Given the description of an element on the screen output the (x, y) to click on. 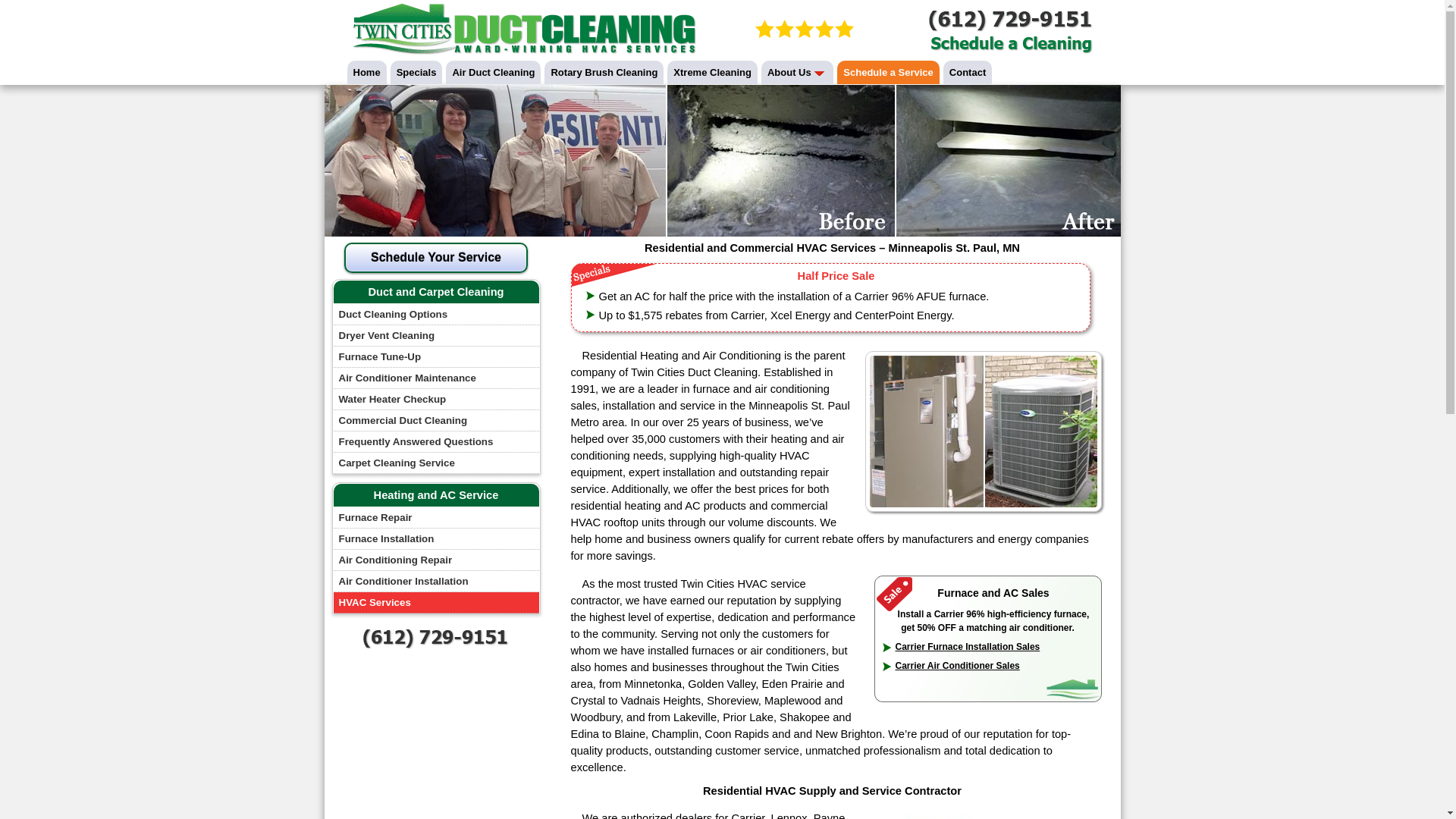
Rotary Brush Cleaning (603, 72)
Specials (416, 72)
Air Duct Cleaning (492, 72)
Schedule a Service (888, 72)
Carrier Furnace Installation Sales (967, 646)
Furnace Tune-Up (435, 356)
HVAC Services (435, 602)
Carpet Cleaning Service (435, 463)
Carrier Air Conditioner Sales (957, 665)
Furnace Repair (435, 517)
Home (367, 72)
Xtreme Cleaning (711, 72)
Schedule Your Service (435, 256)
Air Conditioner Installation (435, 581)
Dryer Vent Cleaning (435, 335)
